Given the description of an element on the screen output the (x, y) to click on. 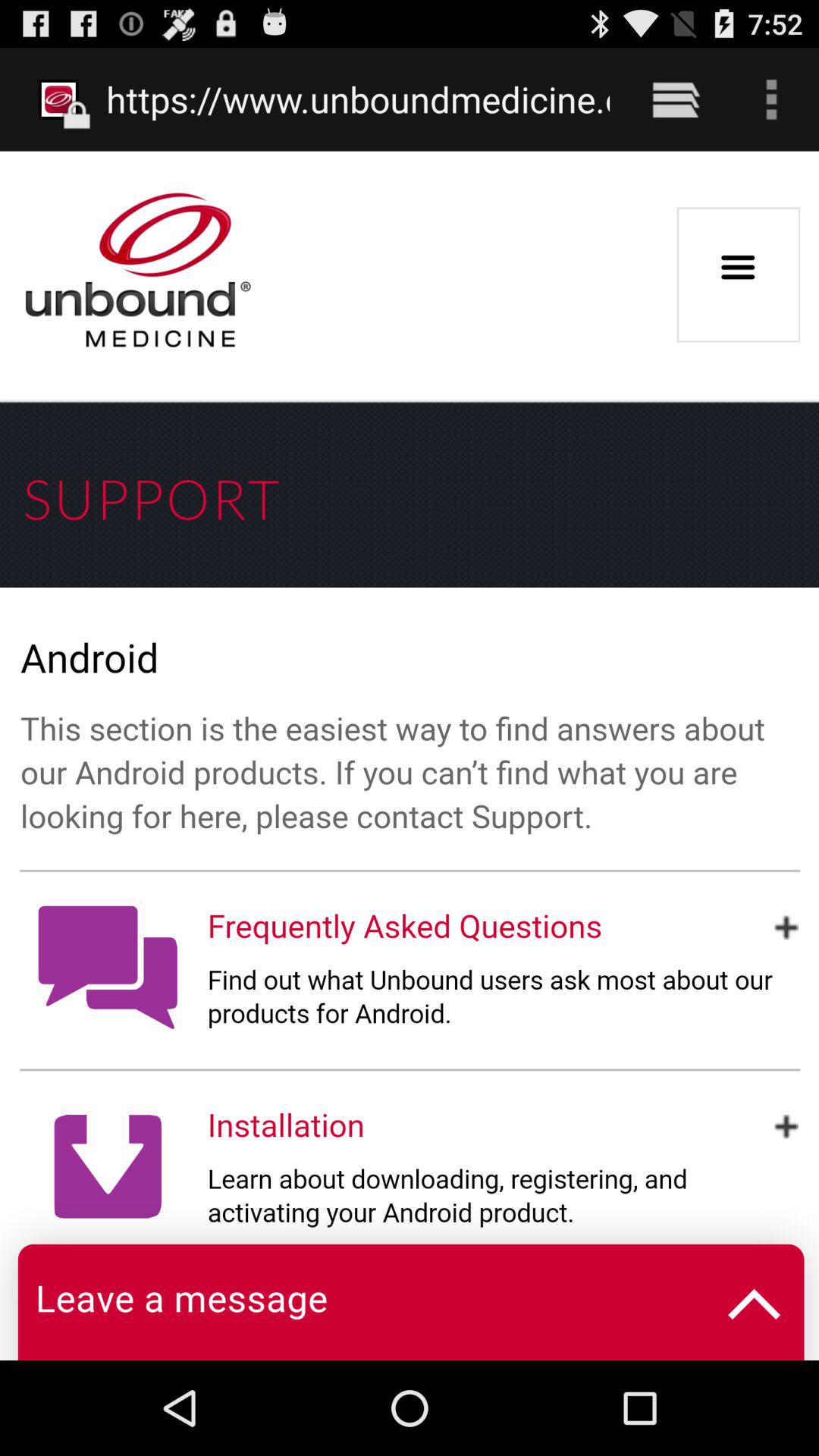
select the https www unboundmedicine item (357, 99)
